Given the description of an element on the screen output the (x, y) to click on. 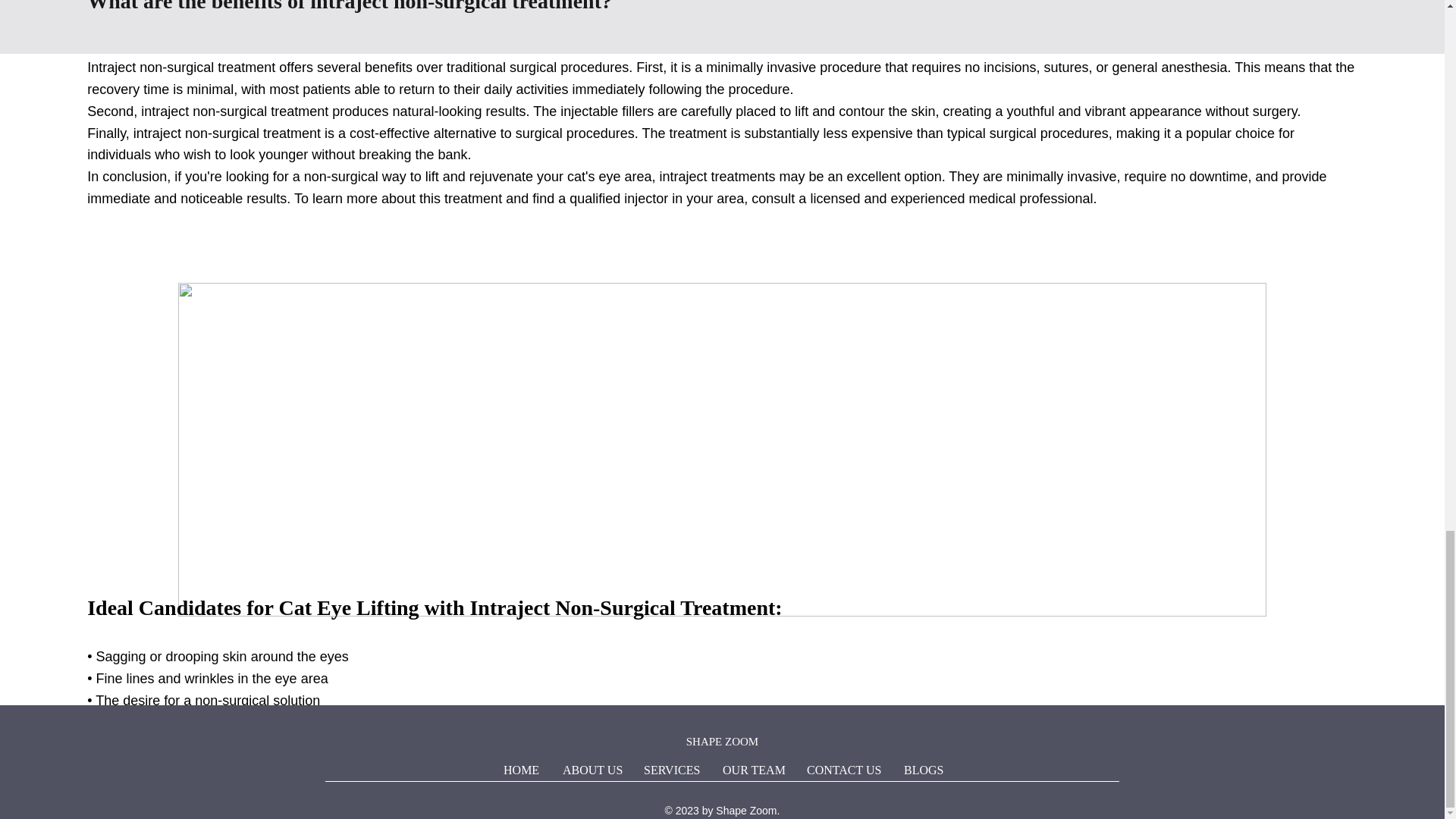
BLOGS (922, 770)
OUR TEAM (752, 770)
SERVICES (671, 770)
HOME (521, 770)
CONTACT US (843, 770)
ABOUT US (591, 770)
